Given the description of an element on the screen output the (x, y) to click on. 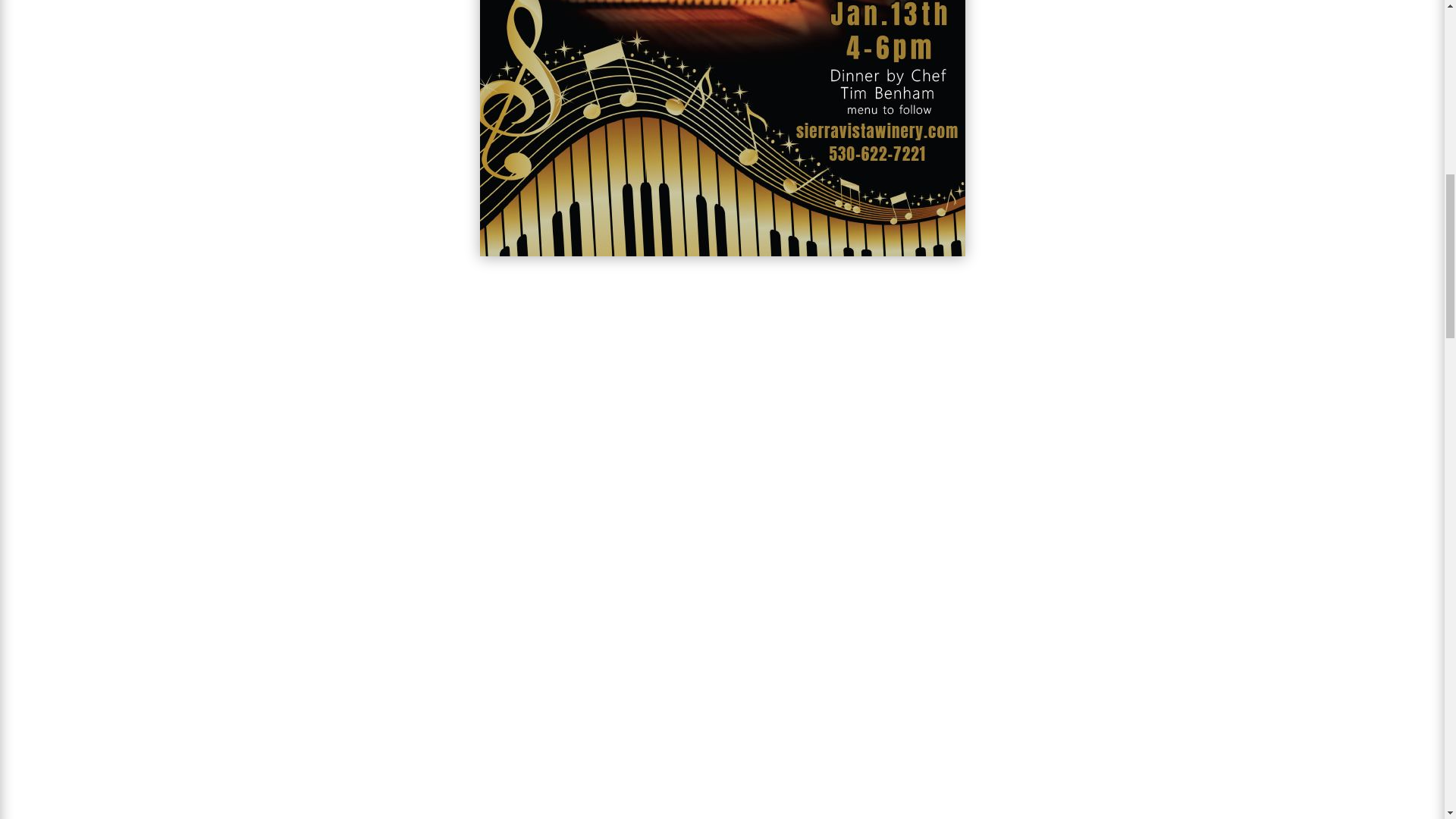
Piano Night 1.13 (721, 128)
